Given the description of an element on the screen output the (x, y) to click on. 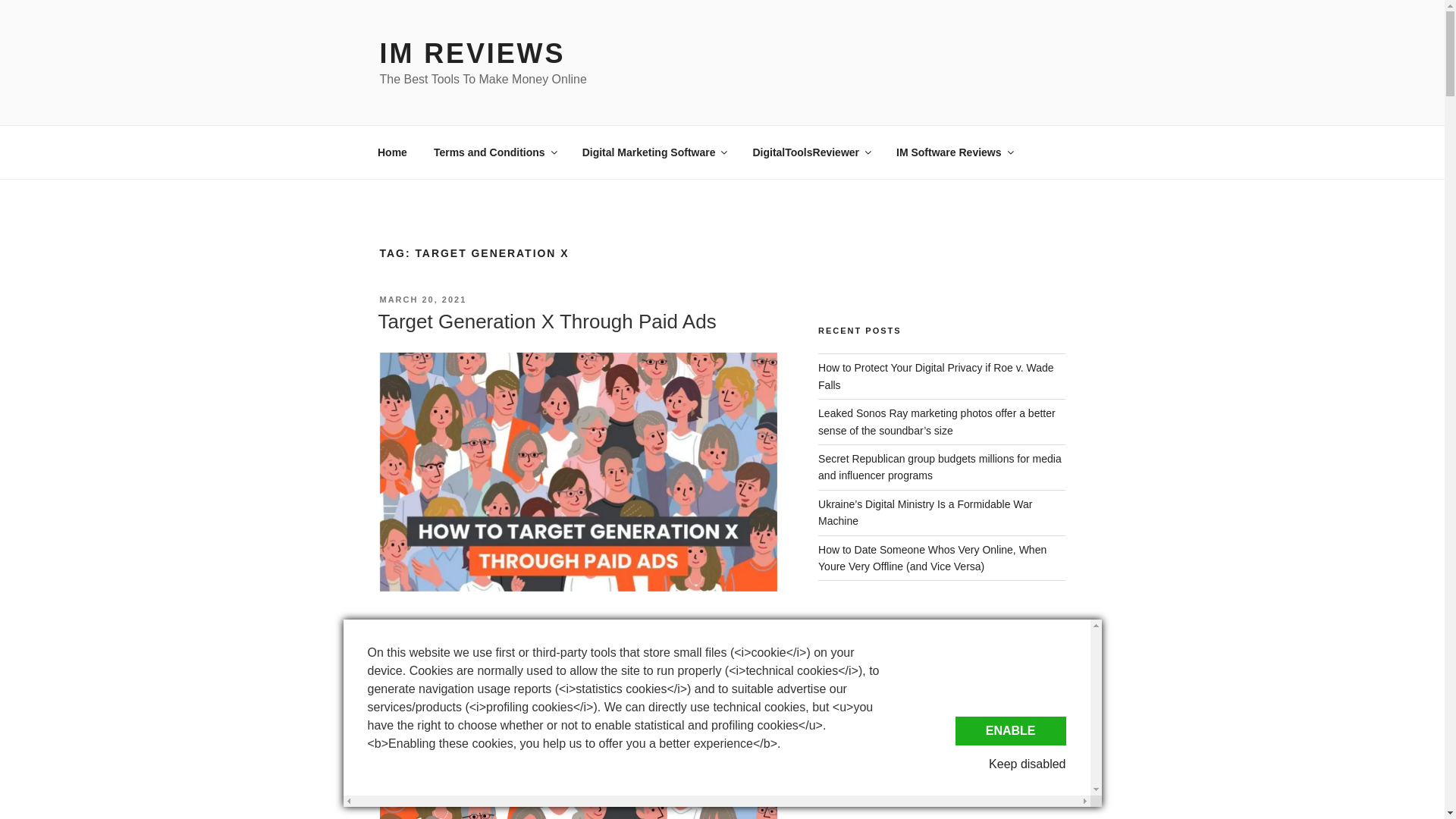
MARCH 20, 2021 (421, 298)
Digital Marketing Software (654, 151)
Terms and Conditions (494, 151)
Target Generation X Through Paid Ads (546, 321)
IM Software Reviews (954, 151)
IM REVIEWS (471, 52)
Home (392, 151)
DigitalToolsReviewer (811, 151)
